Given the description of an element on the screen output the (x, y) to click on. 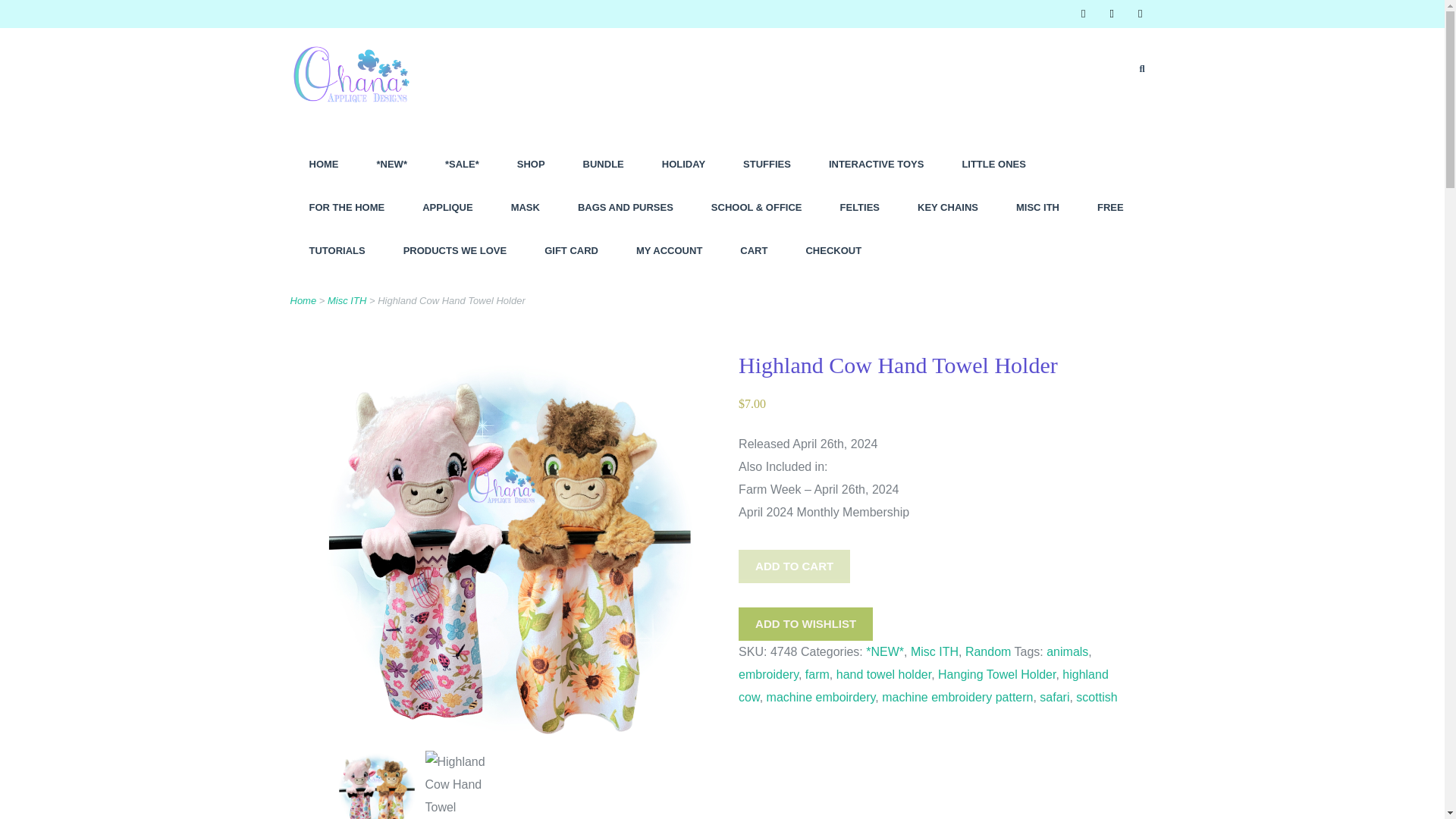
BUNDLE (603, 163)
facebook (1082, 13)
Ohana Applique Designs (356, 132)
OAD 2404 Highland Cow HTH 2000 (465, 785)
SHOP (530, 163)
HOME (322, 163)
HOLIDAY (683, 163)
OAD 2404 Highland Cow HTH 2000 copy (375, 785)
pinterest (1139, 13)
instagram (1111, 13)
